Given the description of an element on the screen output the (x, y) to click on. 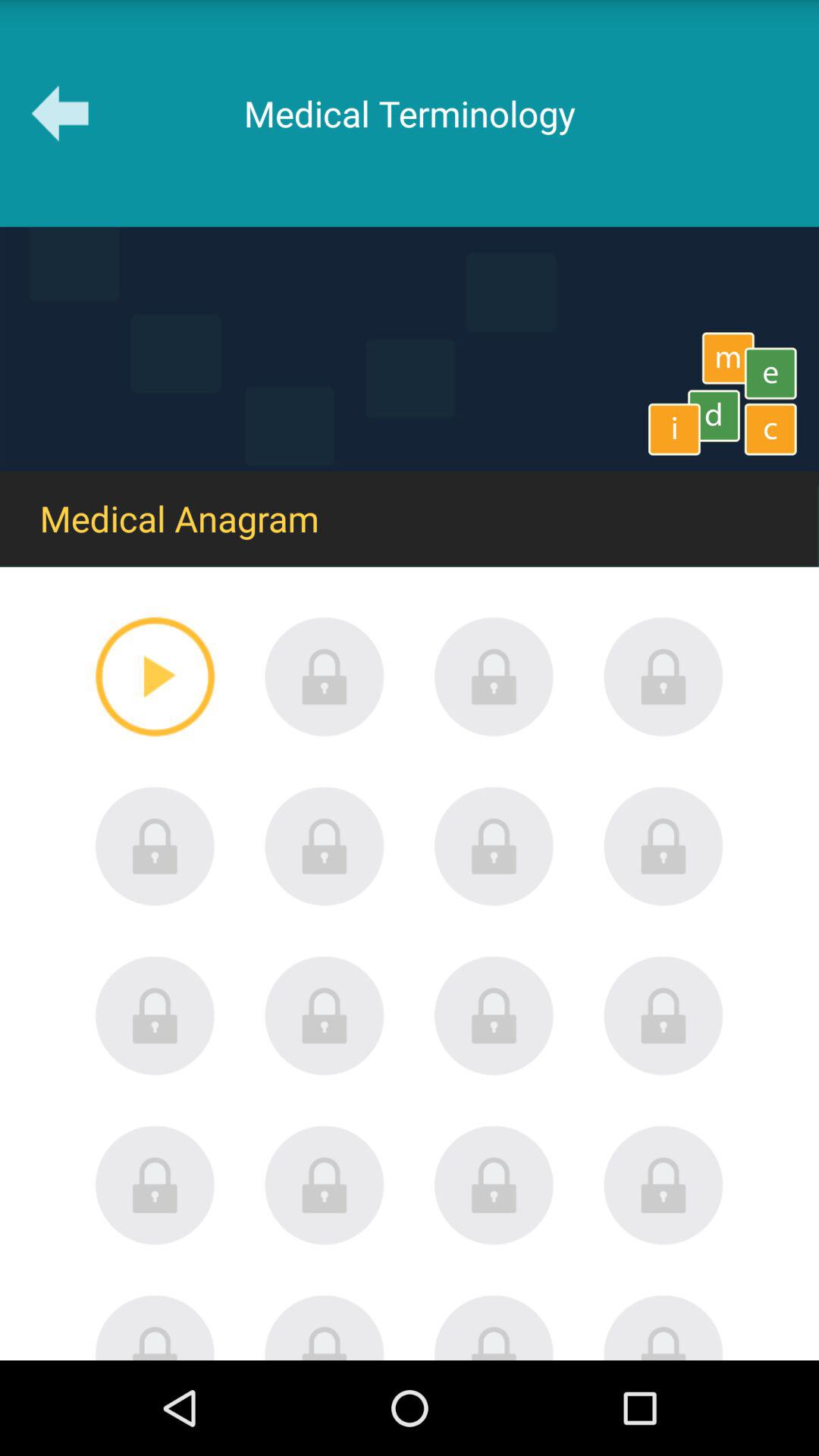
unlock item (324, 676)
